Given the description of an element on the screen output the (x, y) to click on. 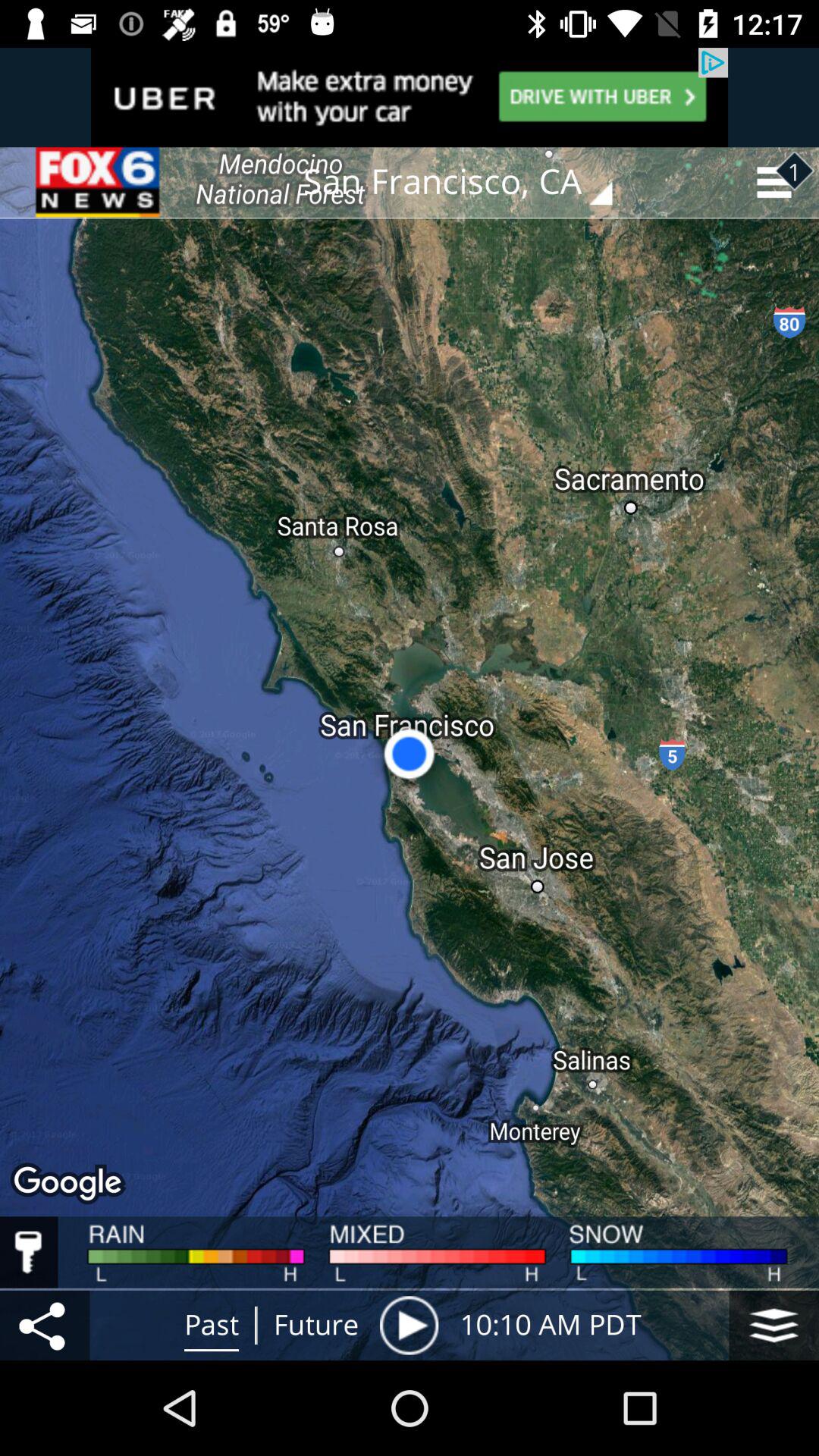
turn off icon next to future item (409, 1325)
